Given the description of an element on the screen output the (x, y) to click on. 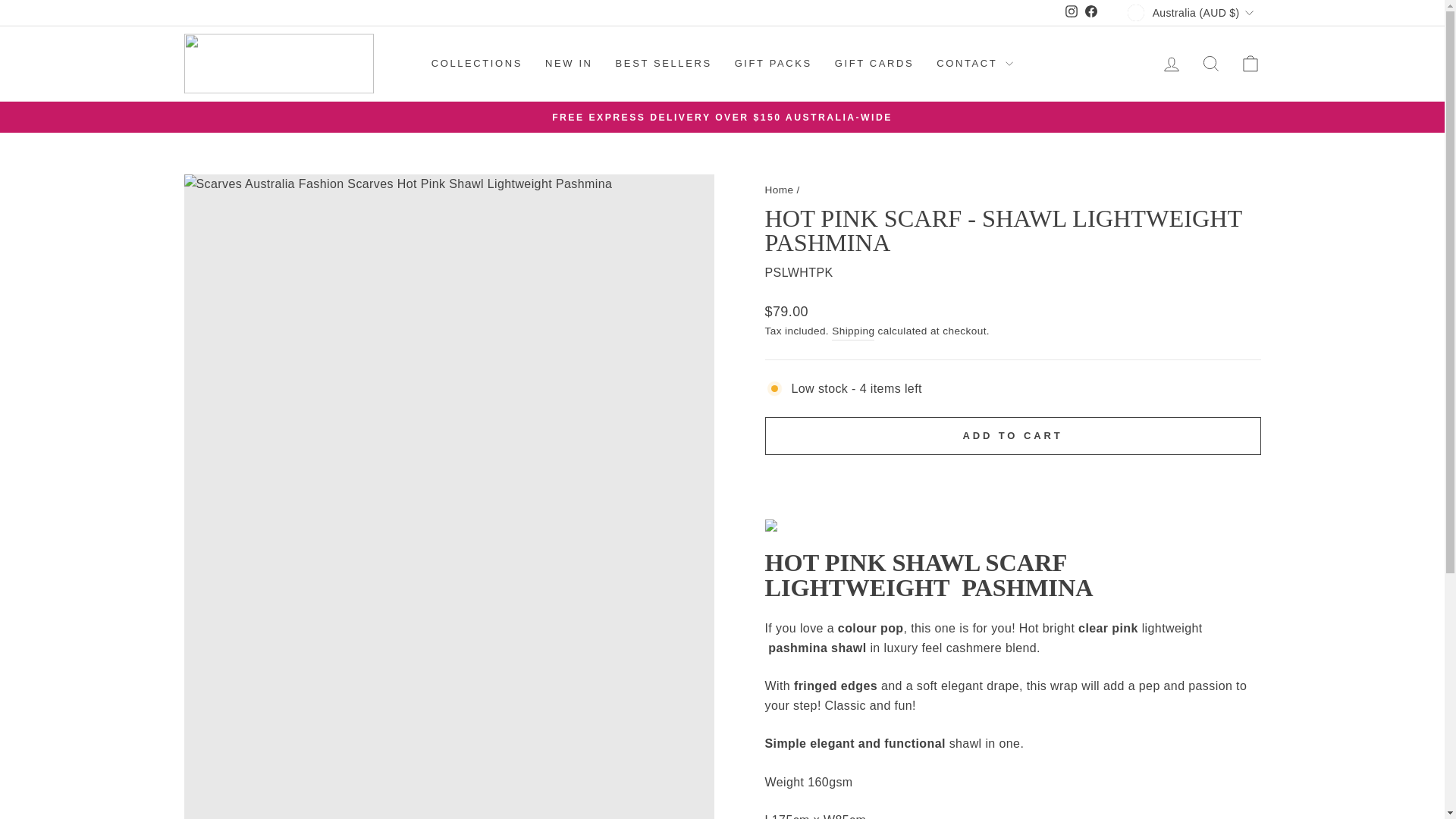
instagram (1071, 10)
BEST SELLERS (663, 62)
GIFT PACKS (773, 62)
Scarves Australia on Facebook (1090, 12)
GIFT CARDS (875, 62)
Back to the frontpage (778, 189)
ICON-BAG-MINIMAL (1249, 63)
Scarves Australia on Instagram (1071, 12)
ACCOUNT (1170, 64)
COLLECTIONS (1210, 62)
ICON-SEARCH (1071, 12)
Facebook (1171, 62)
